Given the description of an element on the screen output the (x, y) to click on. 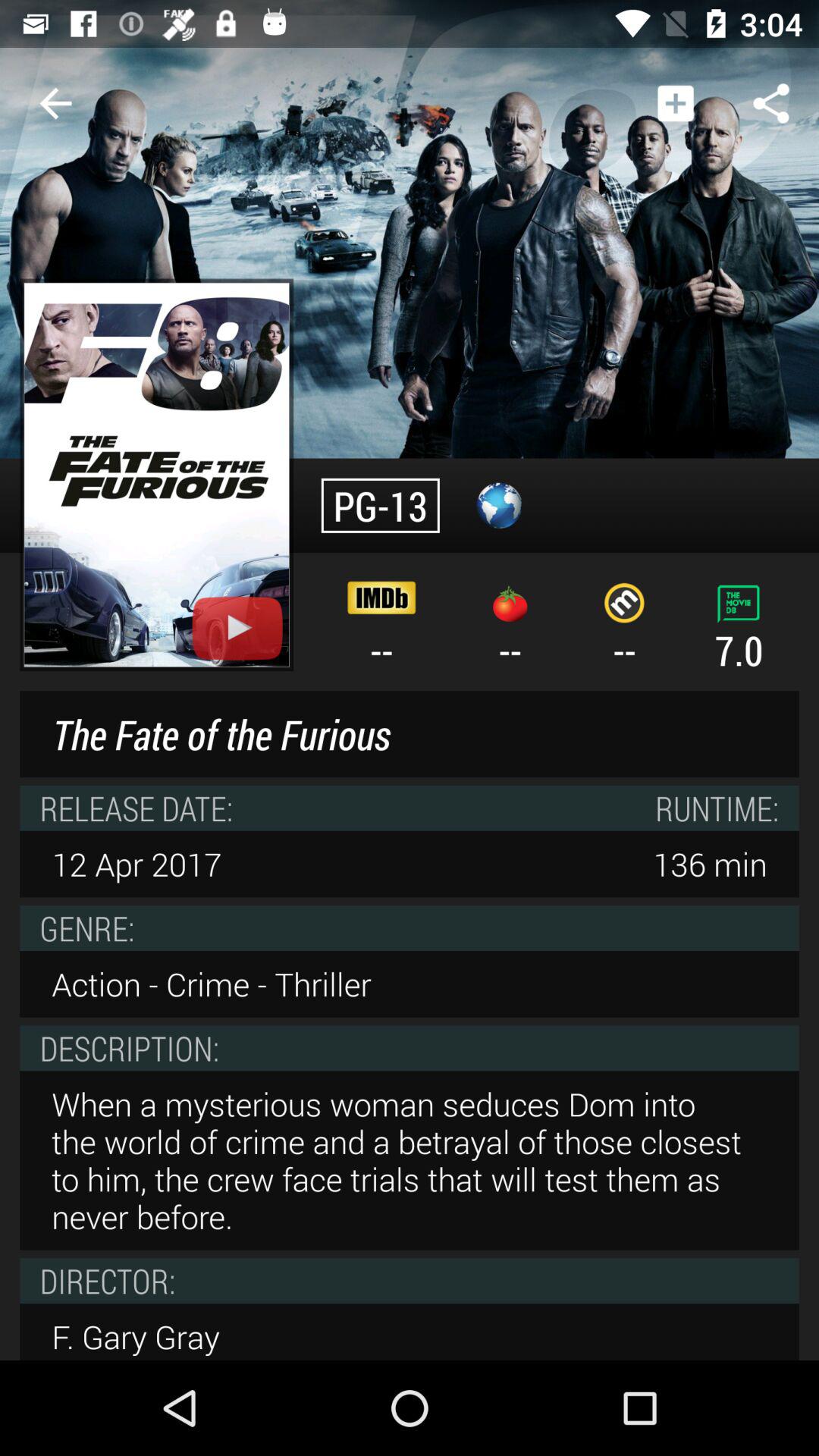
open -- item (510, 631)
